Given the description of an element on the screen output the (x, y) to click on. 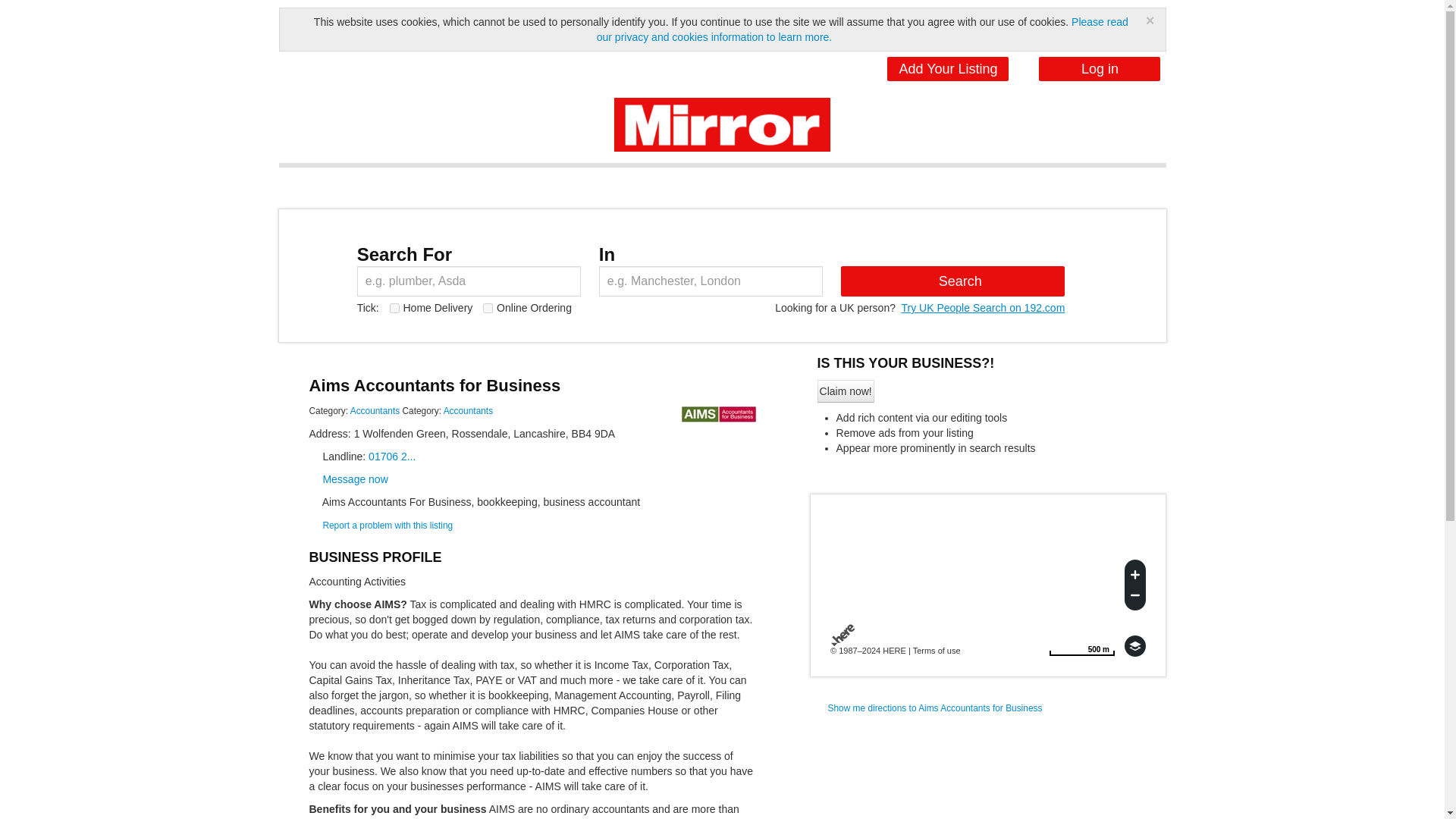
click to show number (391, 456)
Change to miles (1081, 645)
Choose view (1134, 645)
on (488, 307)
Report a problem with this listing (386, 525)
Message now (354, 479)
Accountants (468, 410)
on (1081, 645)
show me more (394, 307)
Accountants (374, 410)
Add Your Listing (374, 410)
Search (947, 68)
01706 2... (952, 281)
